Given the description of an element on the screen output the (x, y) to click on. 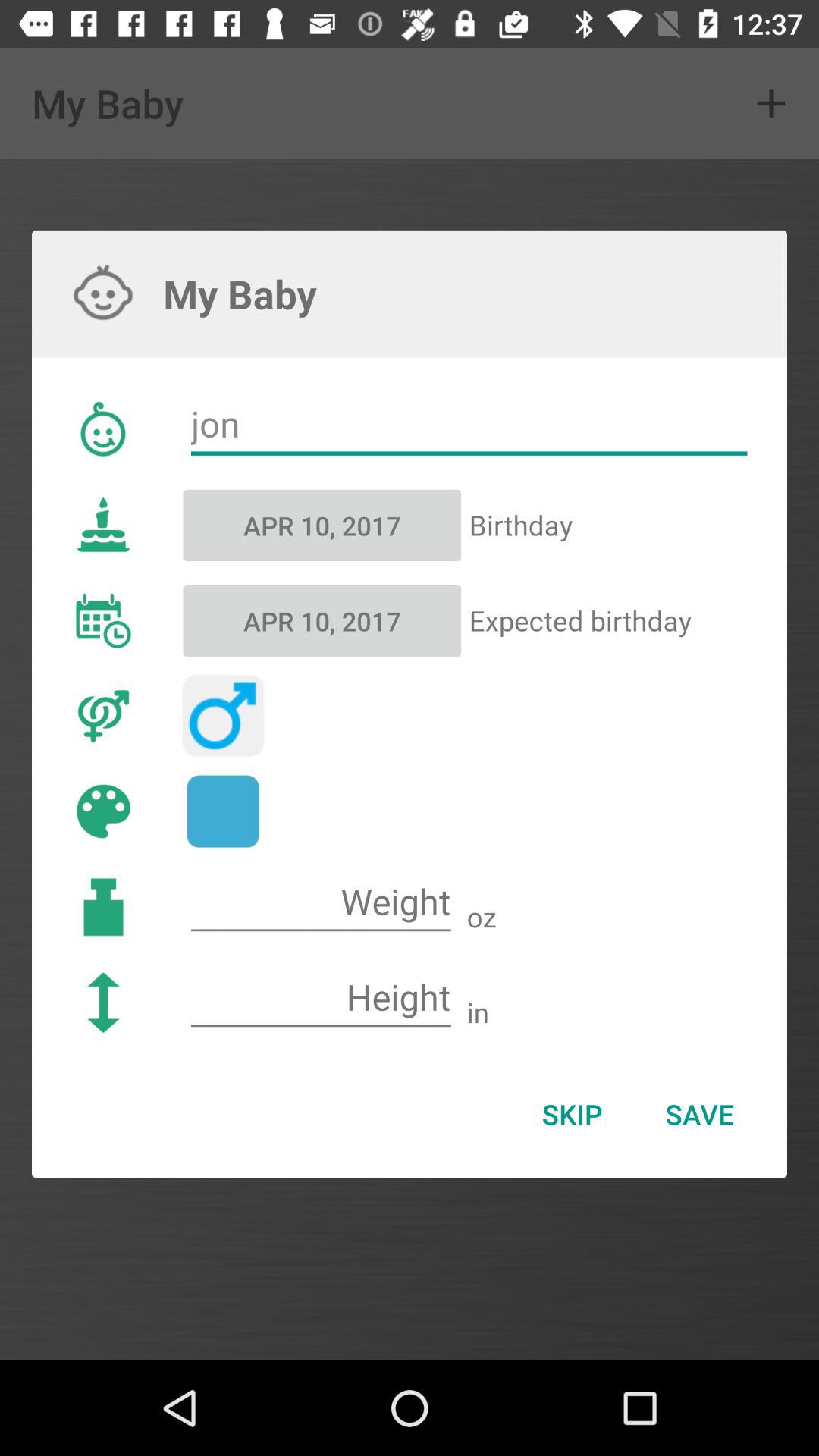
select the icon next to skip (699, 1113)
